Given the description of an element on the screen output the (x, y) to click on. 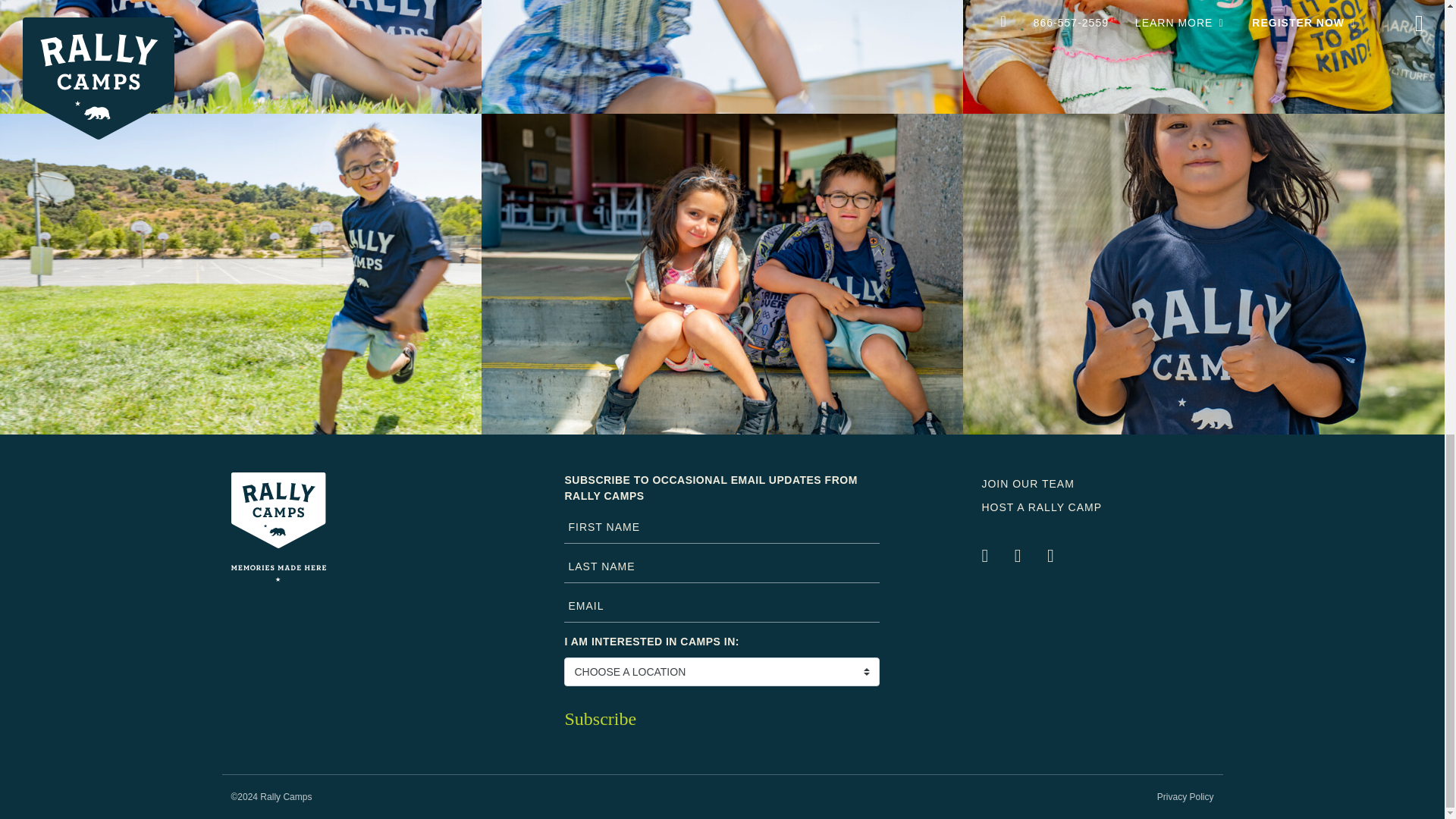
Subscribe (721, 718)
JOIN OUR TEAM (1027, 483)
HOST A RALLY CAMP (1041, 507)
Subscribe (721, 718)
Privacy Policy (1185, 796)
